Given the description of an element on the screen output the (x, y) to click on. 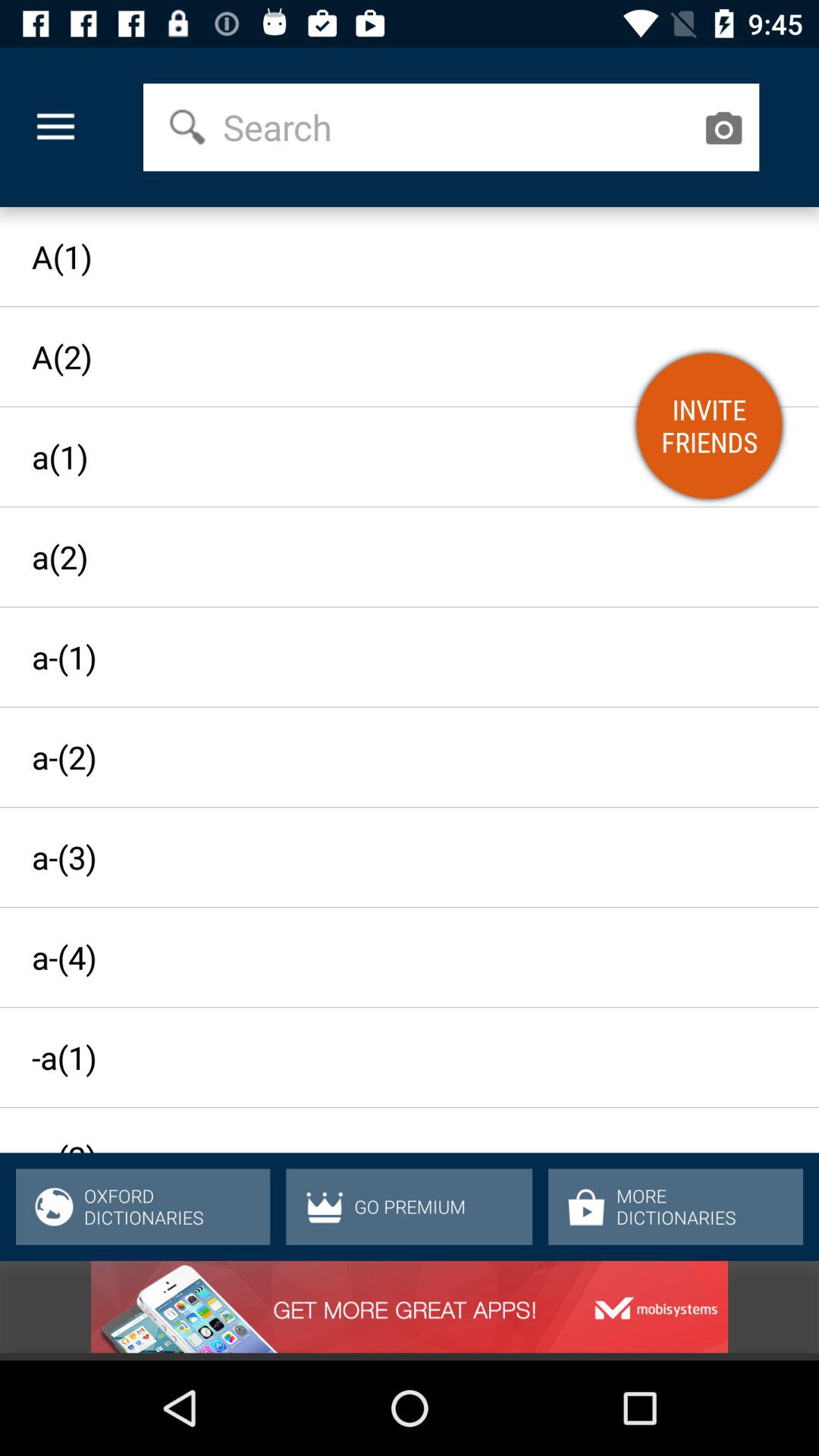
select the item above the a(2) (708, 425)
